Given the description of an element on the screen output the (x, y) to click on. 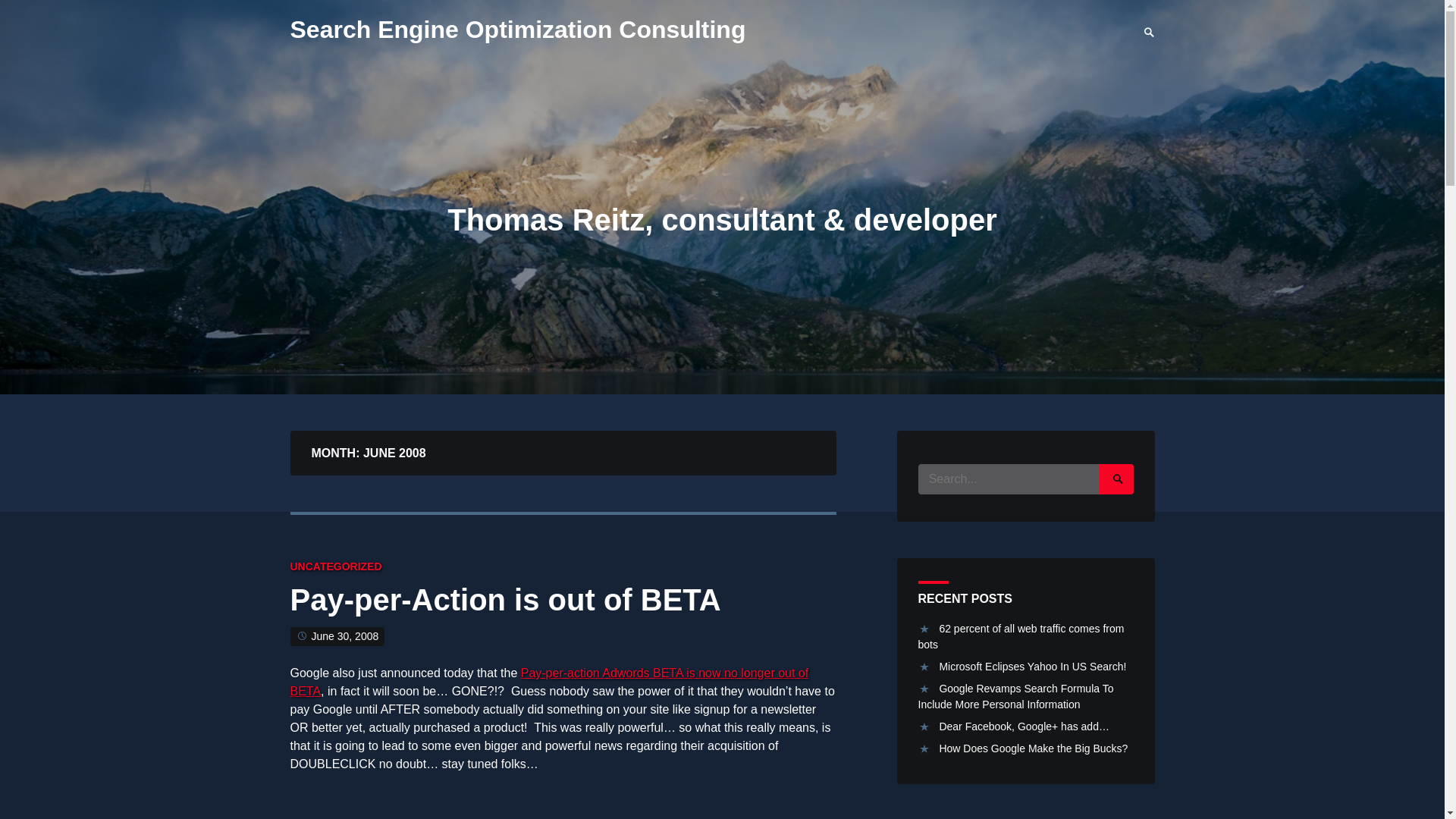
UNCATEGORIZED (335, 566)
Pay-per-Action is out of BETA (504, 604)
Pay-per-action Adwords BETA is now no longer out of BETA (548, 681)
Search Engine Optimization Consulting (517, 29)
June 30, 2008 (344, 635)
